Given the description of an element on the screen output the (x, y) to click on. 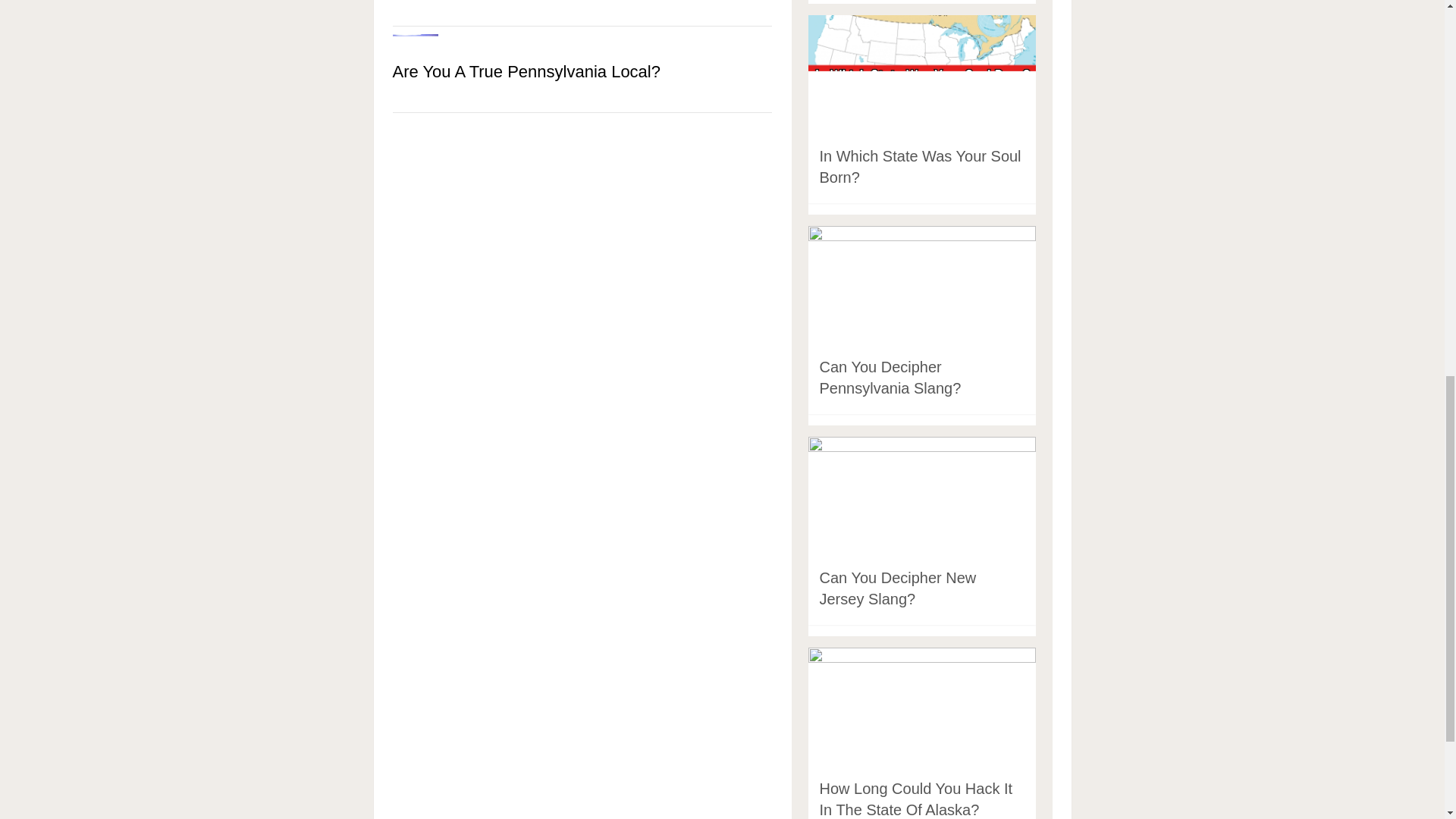
How Long Could You Hack It In The State Of Alaska? (914, 799)
In Which State Was Your Soul Born? (919, 166)
Can You Decipher New Jersey Slang? (896, 588)
Can You Decipher Pennsylvania Slang? (889, 377)
Can You Decipher Pennsylvania Slang? (889, 377)
In Which State Was Your Soul Born? (919, 166)
Are You A True Pennsylvania Local? (582, 71)
